Given the description of an element on the screen output the (x, y) to click on. 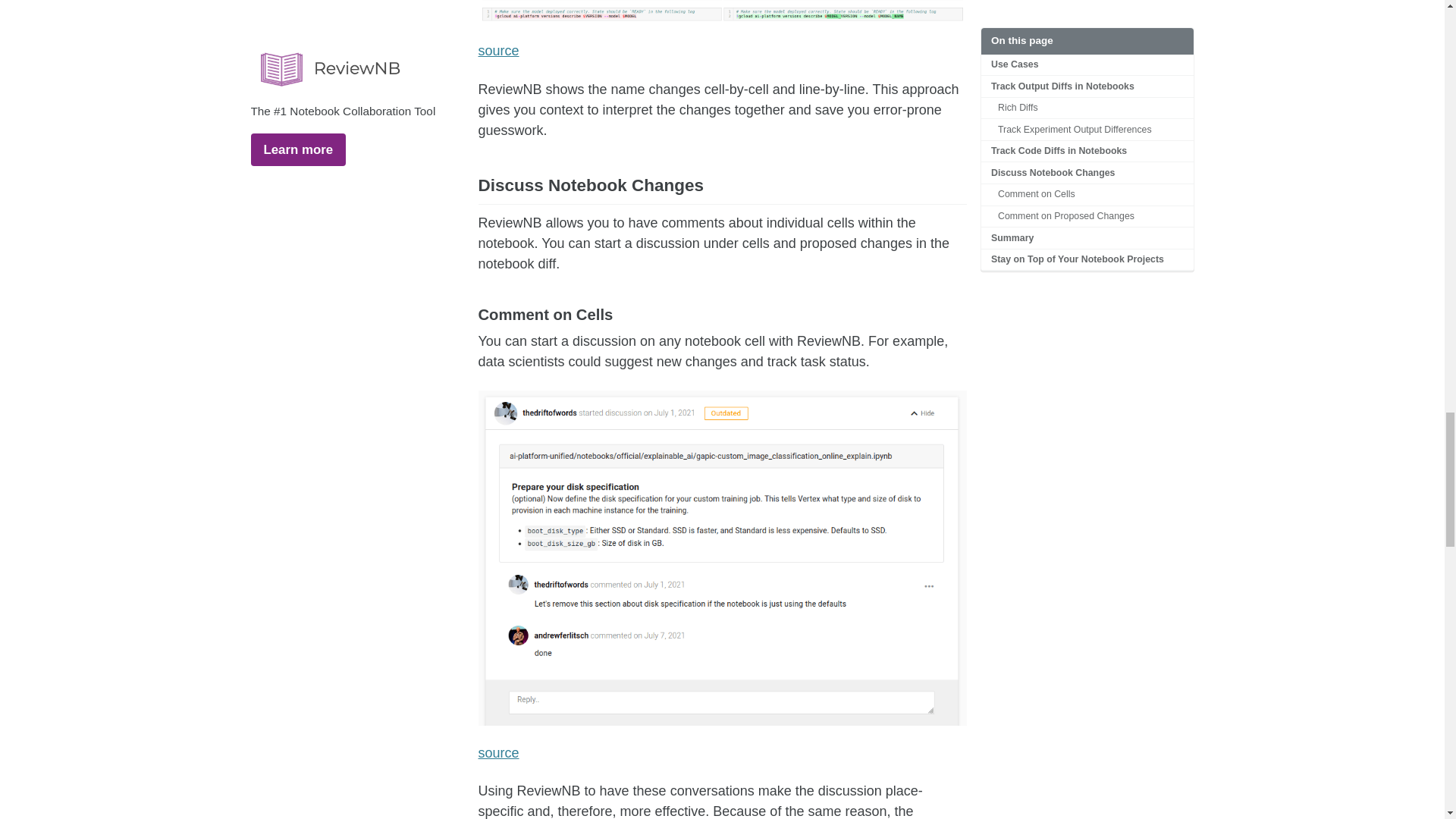
Track Variable Change in ReviewNB (721, 11)
source (497, 50)
source (497, 752)
